Given the description of an element on the screen output the (x, y) to click on. 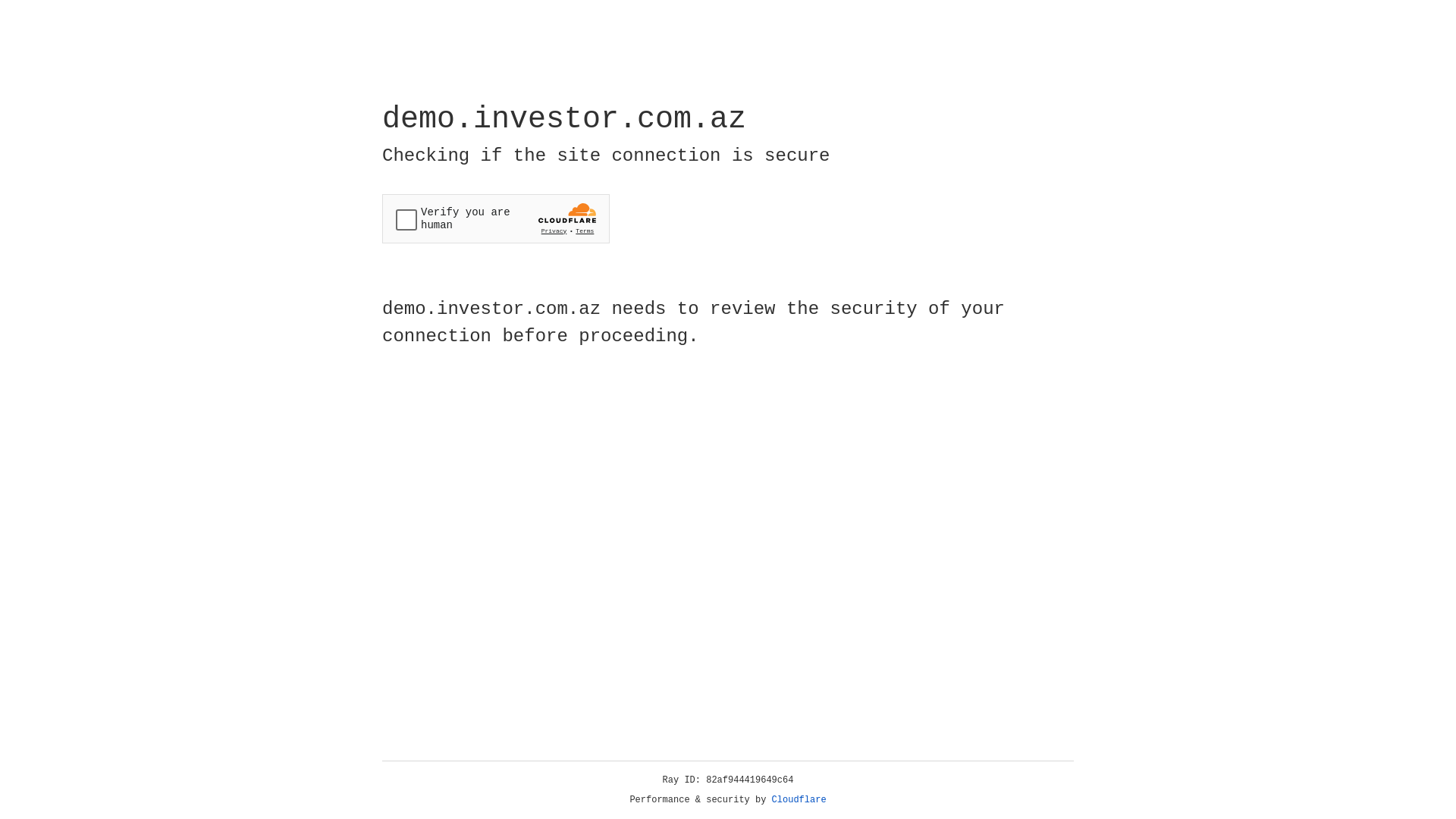
Cloudflare Element type: text (798, 799)
Widget containing a Cloudflare security challenge Element type: hover (495, 218)
